Given the description of an element on the screen output the (x, y) to click on. 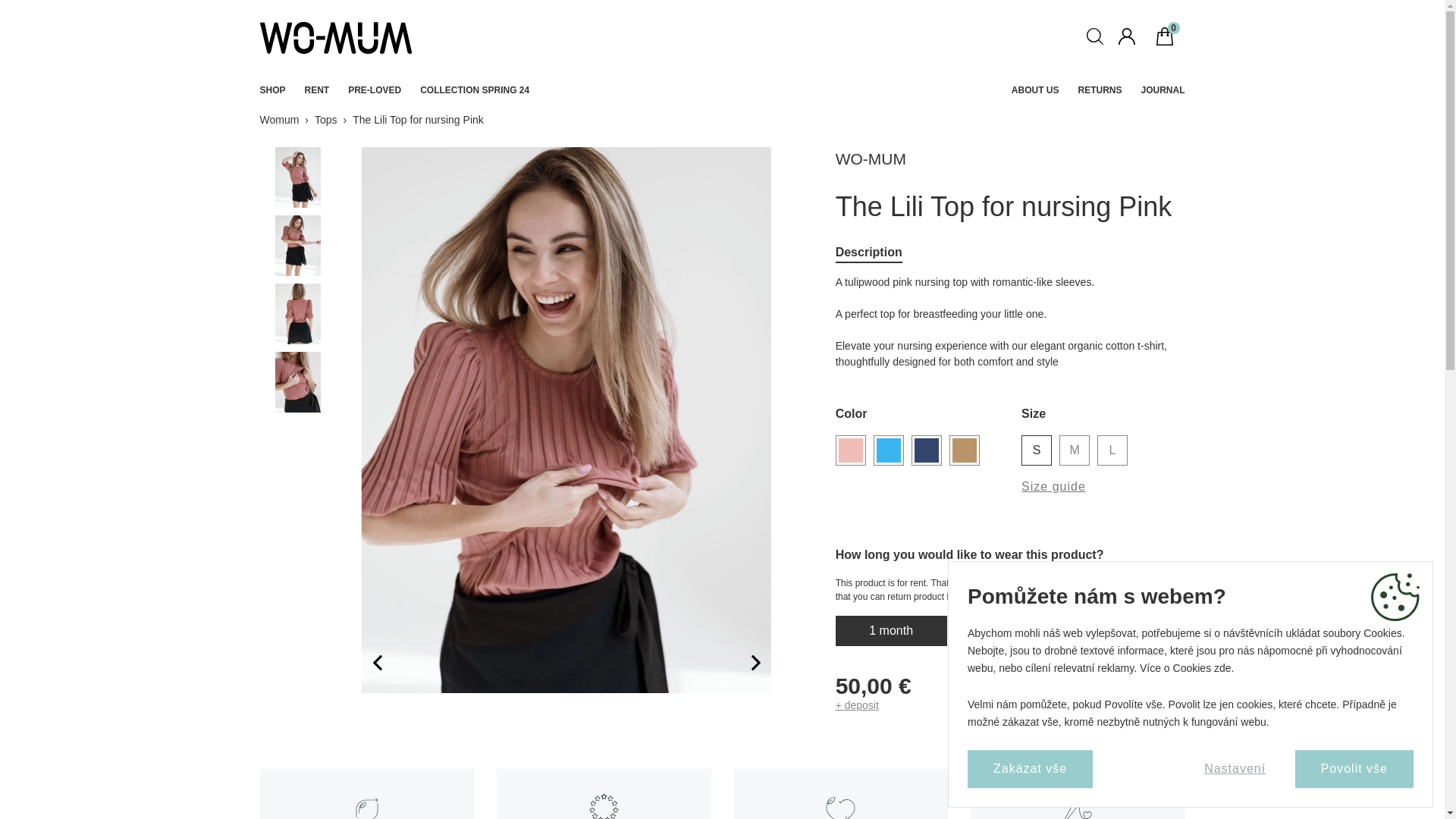
Womum (278, 119)
0 (1170, 37)
prev (370, 662)
JOURNAL (1162, 90)
ABOUT US (1035, 90)
RETURNS (1099, 90)
SHOP (272, 90)
COLLECTION SPRING 24 (474, 90)
Tops (325, 119)
PRE-LOVED (374, 90)
next (763, 662)
